Given the description of an element on the screen output the (x, y) to click on. 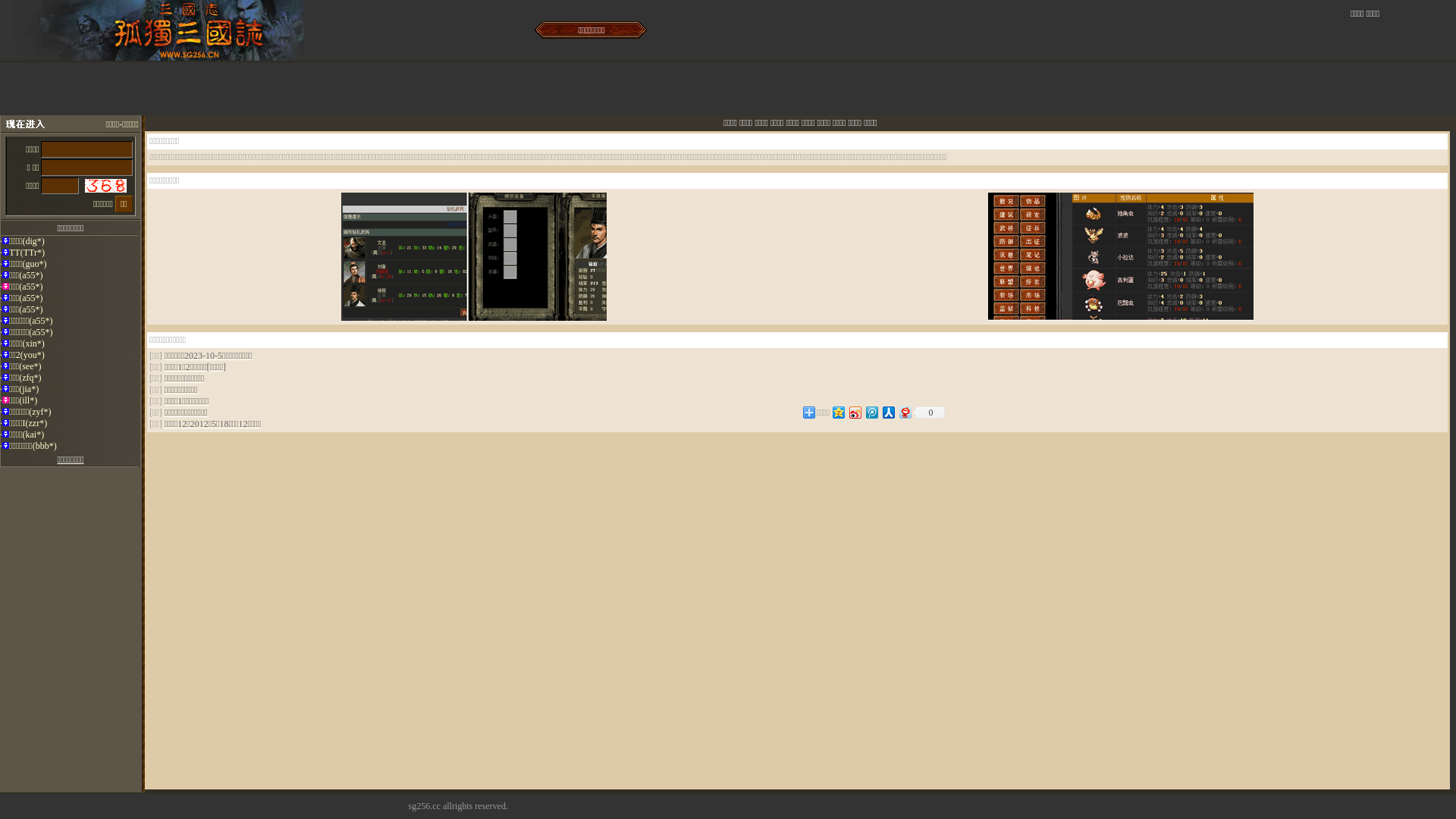
Advertisement Element type: hover (976, 379)
0 Element type: text (928, 412)
